Given the description of an element on the screen output the (x, y) to click on. 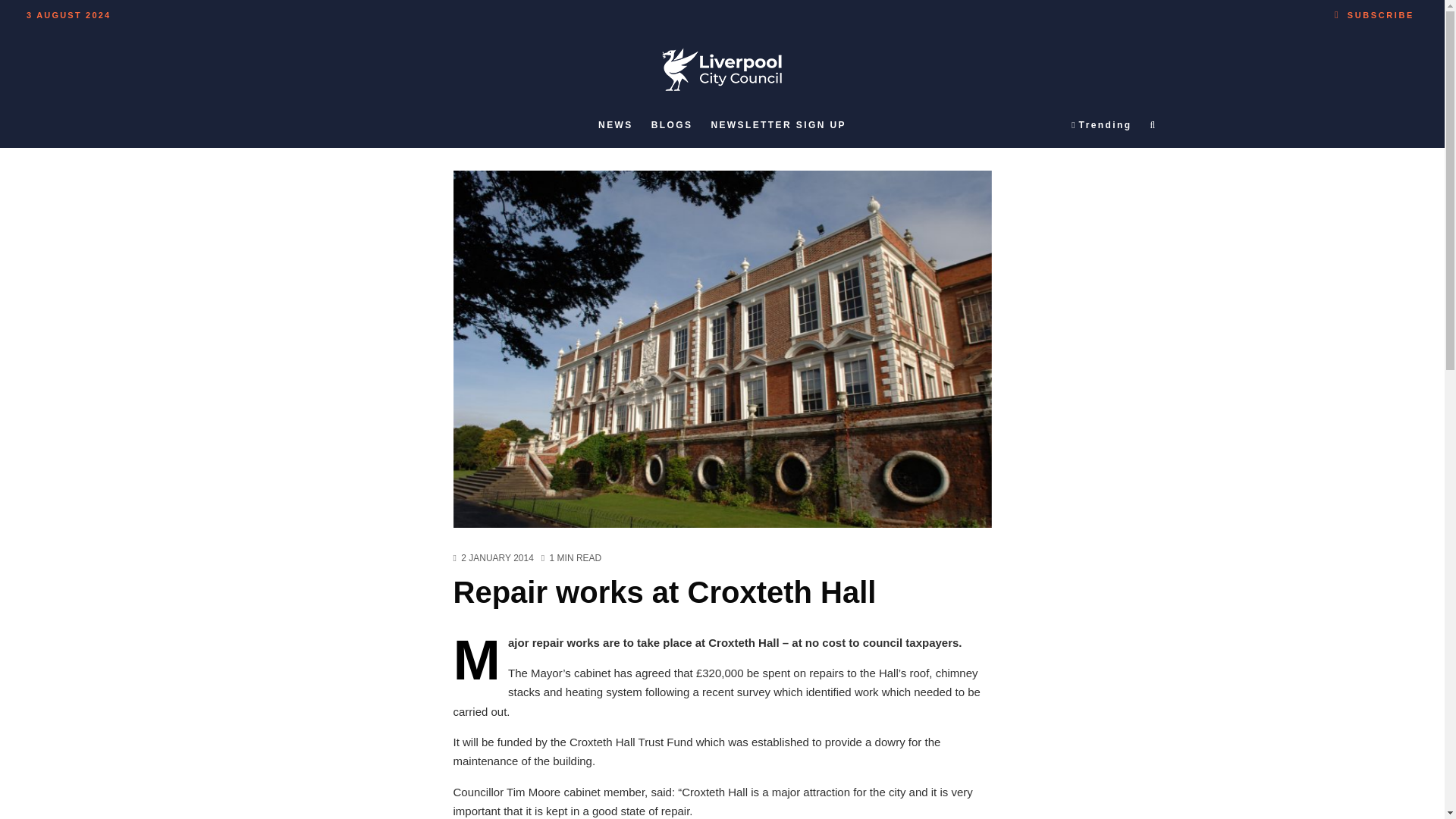
NEWS (615, 125)
NEWSLETTER SIGN UP (778, 125)
BLOGS (671, 125)
Trending (1101, 125)
SUBSCRIBE (1374, 11)
